Given the description of an element on the screen output the (x, y) to click on. 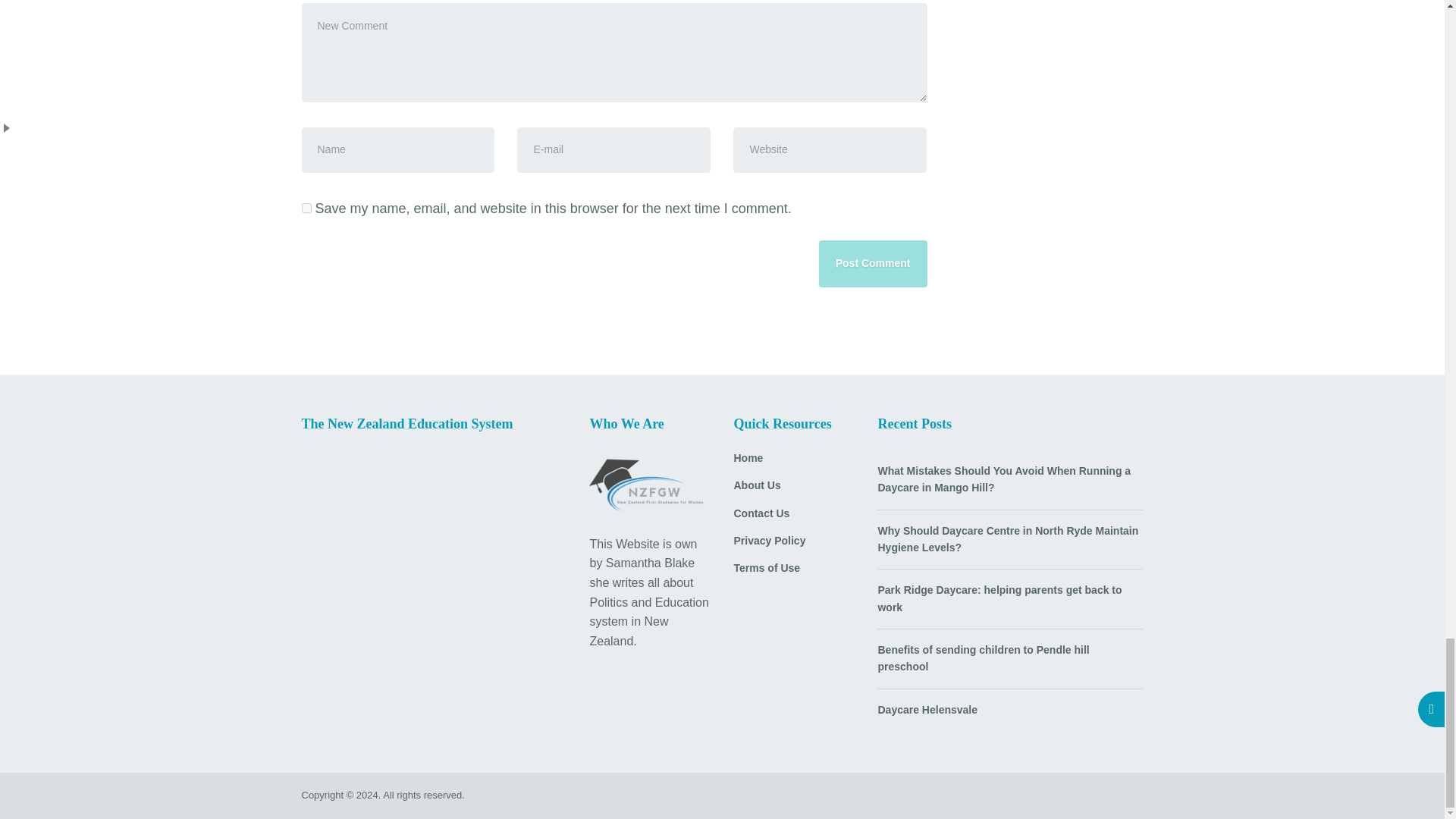
yes (306, 207)
Post Comment (872, 264)
Benefits of sending children to Pendle hill preschool (1009, 658)
Terms of Use (793, 573)
About Us (793, 490)
Contact Us (793, 518)
Park Ridge Daycare: helping parents get back to work (1009, 598)
Privacy Policy (793, 545)
Daycare Helensvale (926, 709)
Home (793, 462)
Post Comment (872, 264)
